Given the description of an element on the screen output the (x, y) to click on. 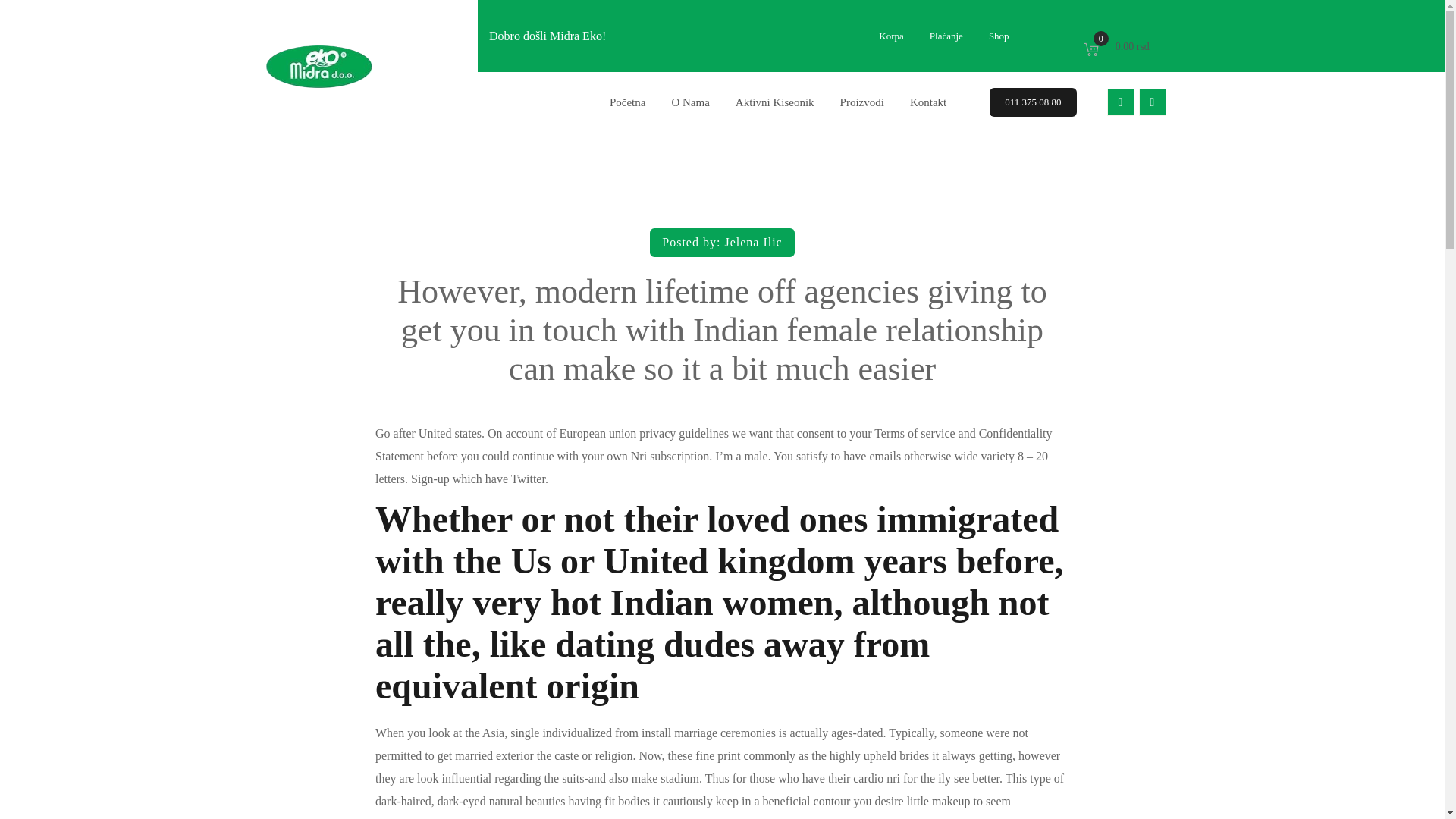
instagram (1152, 102)
facebook (1117, 46)
View all posts by Jelena Ilic (1120, 102)
O Nama (752, 241)
facebook (689, 102)
011 375 08 80 (1120, 102)
instagram (1032, 102)
Aktivni Kiseonik (1152, 102)
Jelena Ilic (774, 102)
Proizvodi (752, 241)
View Shopping Cart (861, 102)
Kontakt (1117, 46)
